Given the description of an element on the screen output the (x, y) to click on. 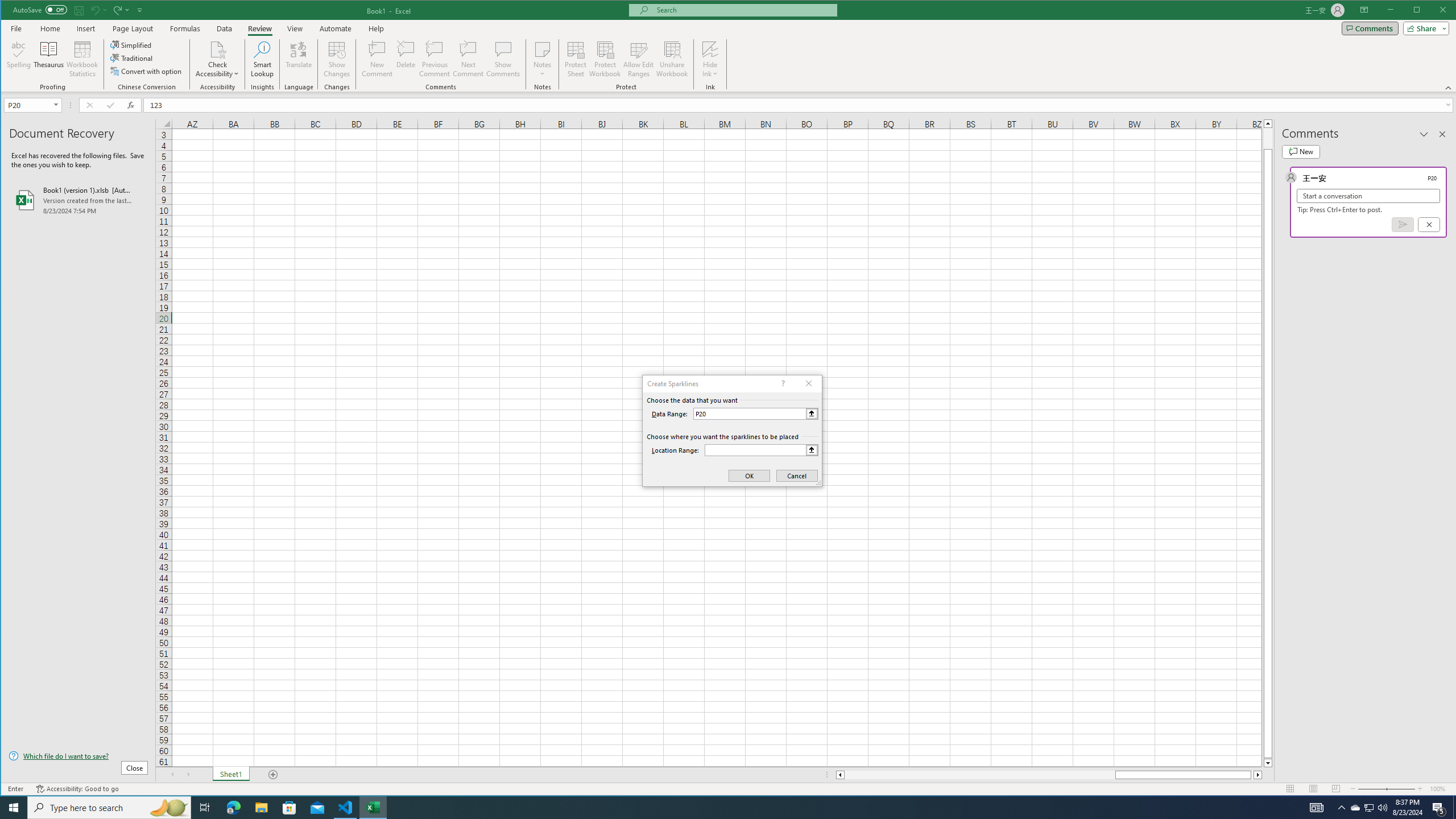
Delete (405, 59)
Which file do I want to save? (78, 755)
Page up (1267, 138)
Translate (298, 59)
Show Changes (335, 59)
File Tab (16, 27)
Zoom In (1420, 788)
Convert with option (146, 70)
Collapse the Ribbon (1448, 87)
Page left (979, 774)
Post comment (Ctrl + Enter) (1402, 224)
Close pane (1441, 133)
Ribbon Display Options (1364, 9)
